Given the description of an element on the screen output the (x, y) to click on. 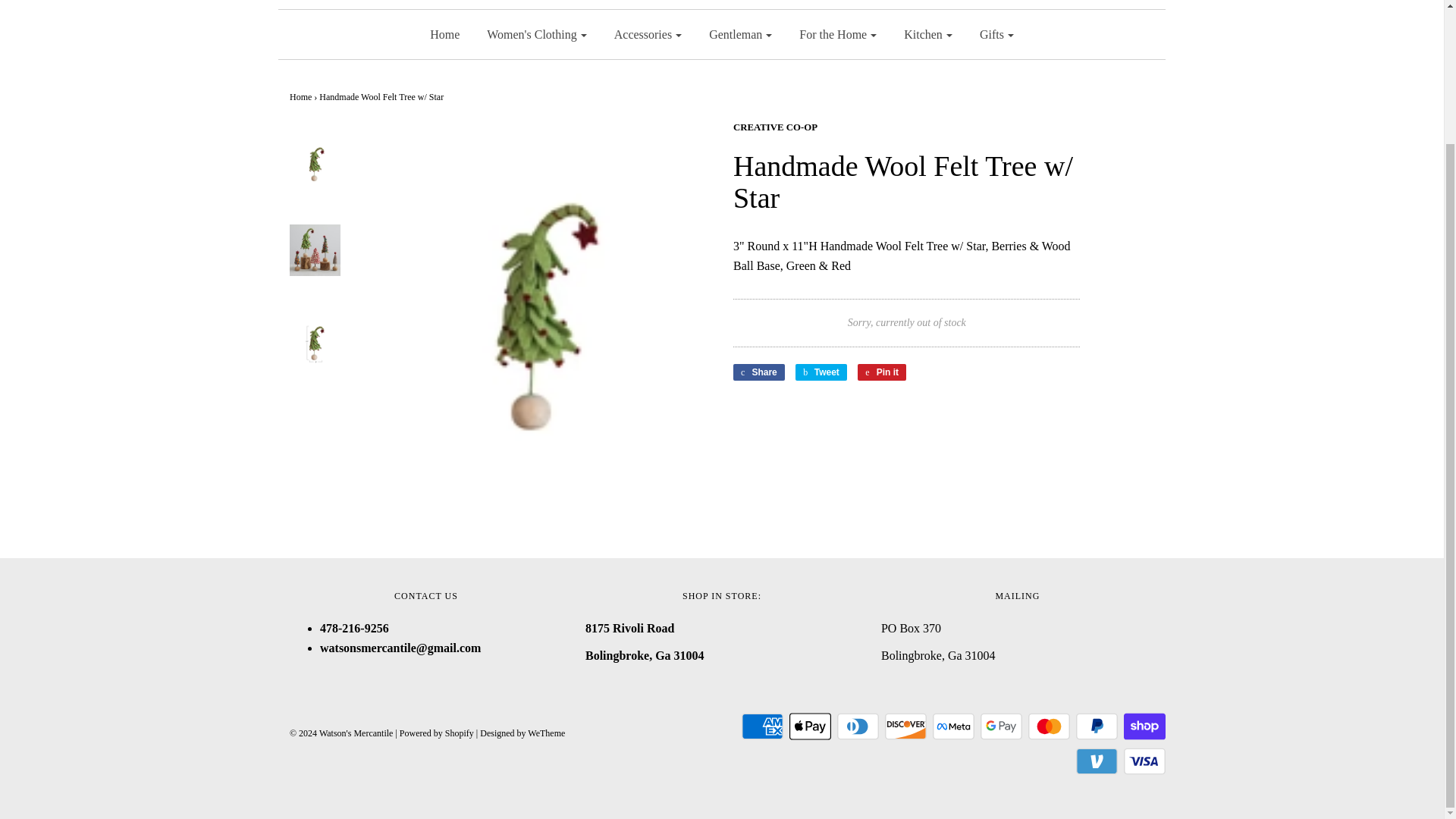
PayPal (1096, 726)
American Express (762, 726)
Discover (905, 726)
Meta Pay (953, 726)
Designed by WeTheme (522, 733)
Google Pay (1000, 726)
Venmo (1096, 761)
Shop Pay (1145, 726)
Apple Pay (810, 726)
Diners Club (858, 726)
